Given the description of an element on the screen output the (x, y) to click on. 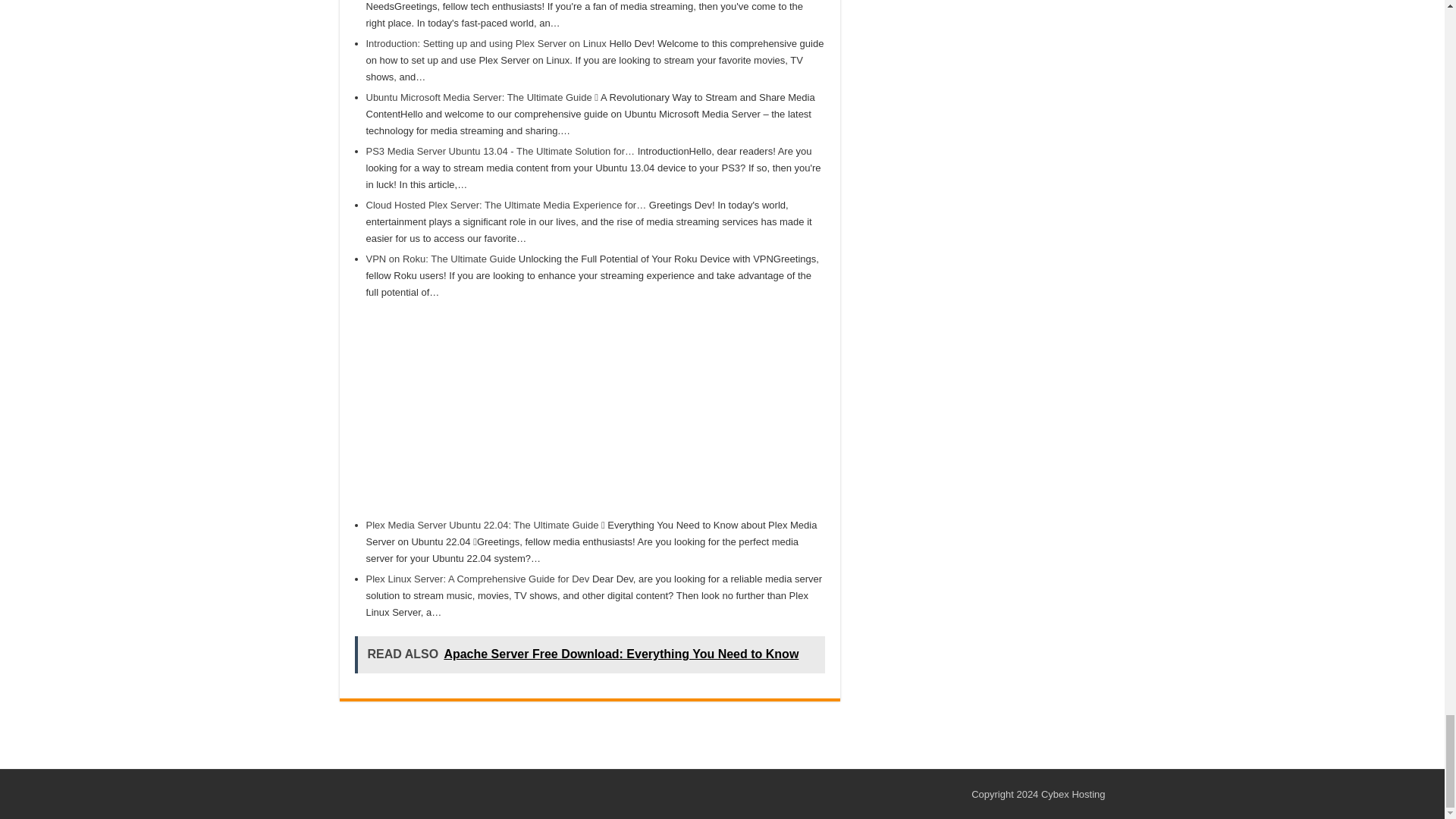
Introduction: Setting up and using Plex Server on Linux (485, 43)
Ubuntu Microsoft Media Server: The Ultimate Guide (478, 97)
